Given the description of an element on the screen output the (x, y) to click on. 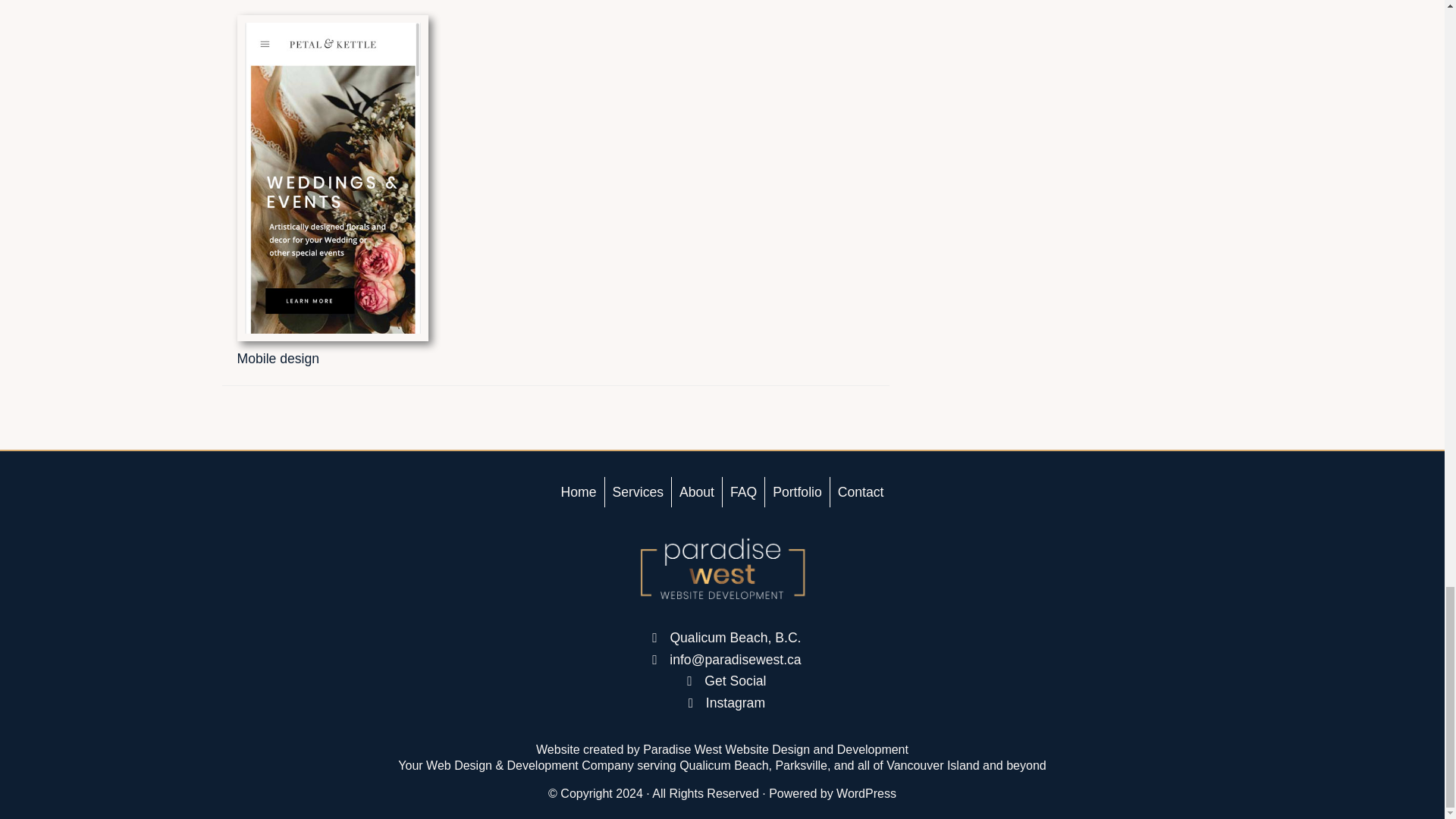
Get Social (732, 680)
Portfolio (797, 491)
Instagram (733, 702)
About (696, 491)
Services (638, 491)
Paradise West Website Design and Development (775, 748)
FAQ (743, 491)
Home (579, 491)
Contact (860, 491)
